Given the description of an element on the screen output the (x, y) to click on. 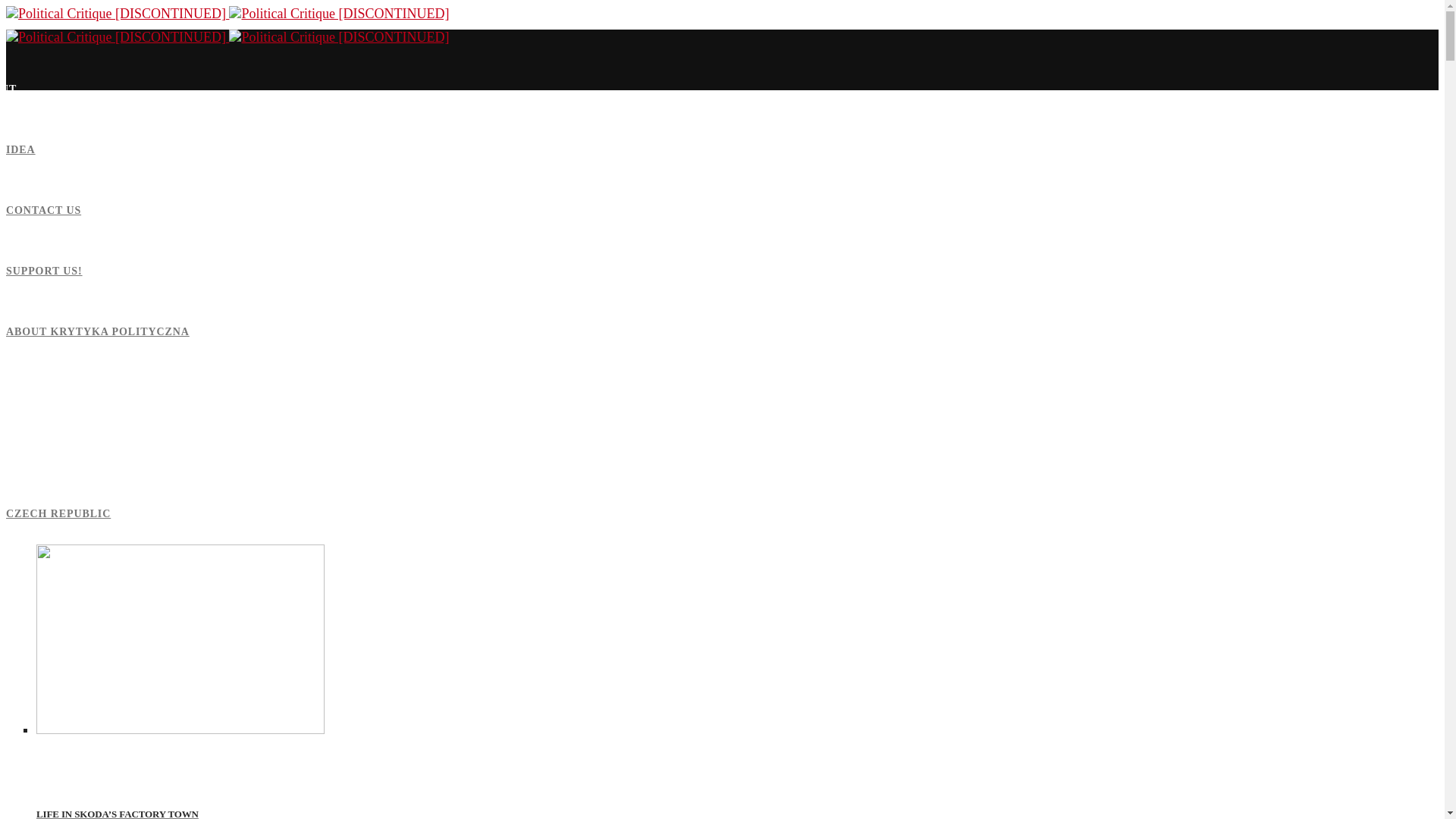
PARTNERS (18, 392)
ABOUT (8, 89)
ABOUT KRYTYKA POLITYCZNA (97, 331)
CONTACT US (43, 210)
CZECH REPUBLIC (57, 513)
IDEA (19, 149)
SUPPORT US! (43, 270)
